Given the description of an element on the screen output the (x, y) to click on. 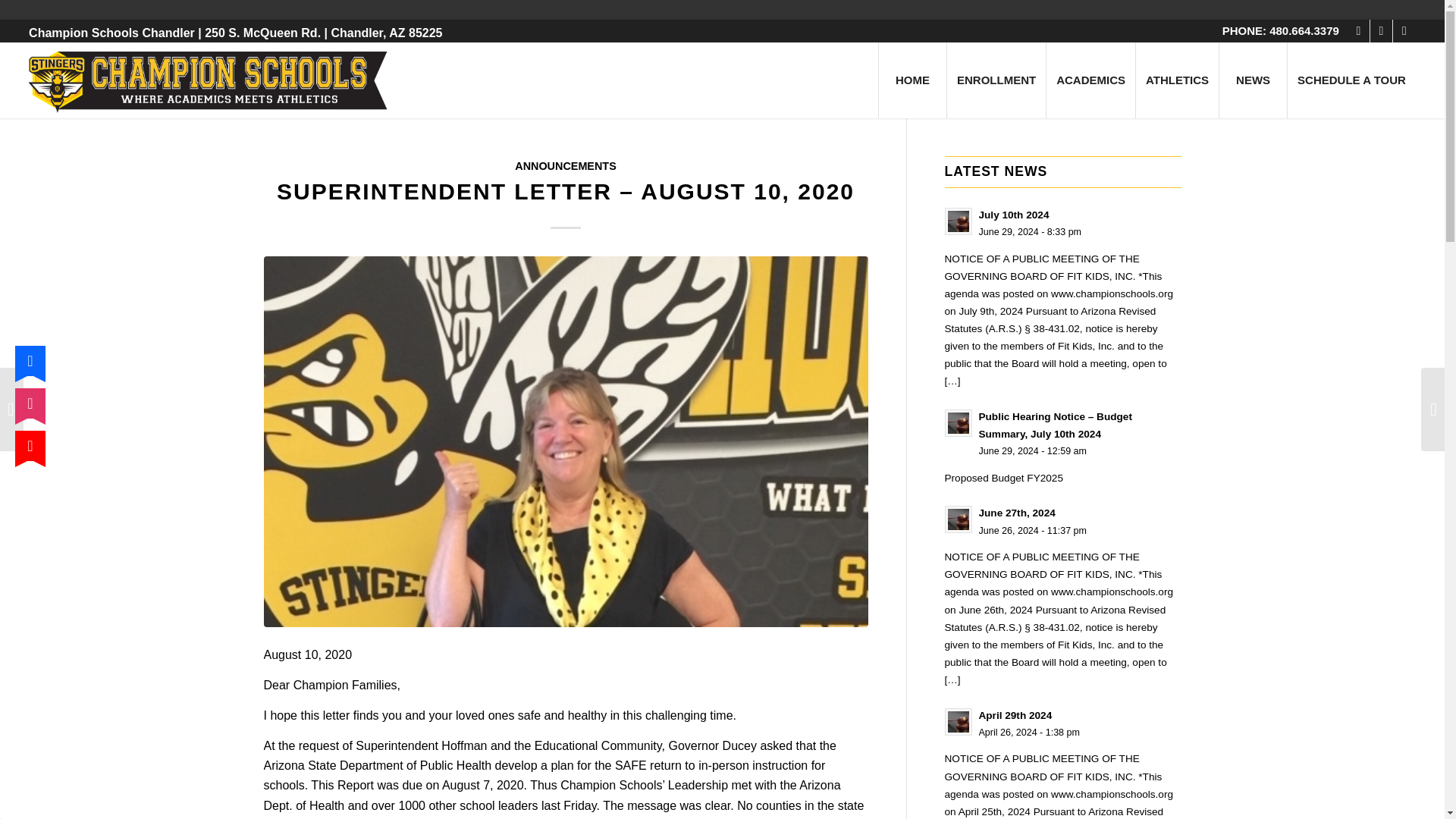
ATHLETICS (1176, 79)
Read: July 10th 2024 (958, 221)
ACADEMICS (1090, 79)
Facebook (1359, 30)
ENROLLMENT (995, 79)
HOME (911, 79)
Instagram (1380, 30)
Youtube (1404, 30)
